Given the description of an element on the screen output the (x, y) to click on. 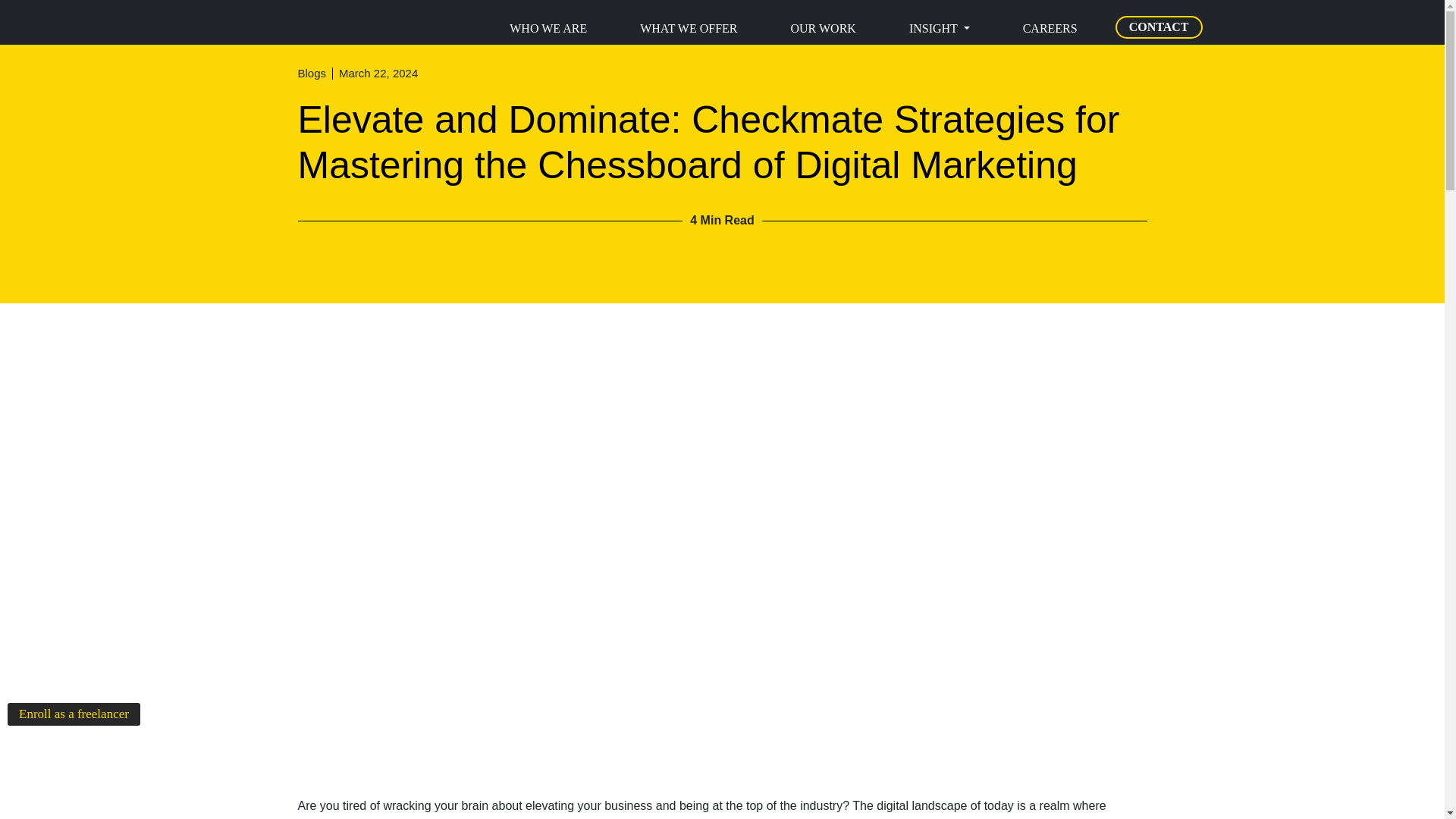
INSIGHT (939, 28)
Enroll as a freelancer (73, 713)
Our Work (822, 28)
CAREERS (1050, 28)
Insight (939, 28)
CONTACT (1158, 26)
WHO WE ARE (548, 28)
Who We Are (548, 28)
OUR WORK (822, 28)
Origami Creative Pvt Ltd (272, 21)
WHAT WE OFFER (688, 28)
Careers (1050, 28)
What We Offer (688, 28)
CONTACT (1158, 26)
